Given the description of an element on the screen output the (x, y) to click on. 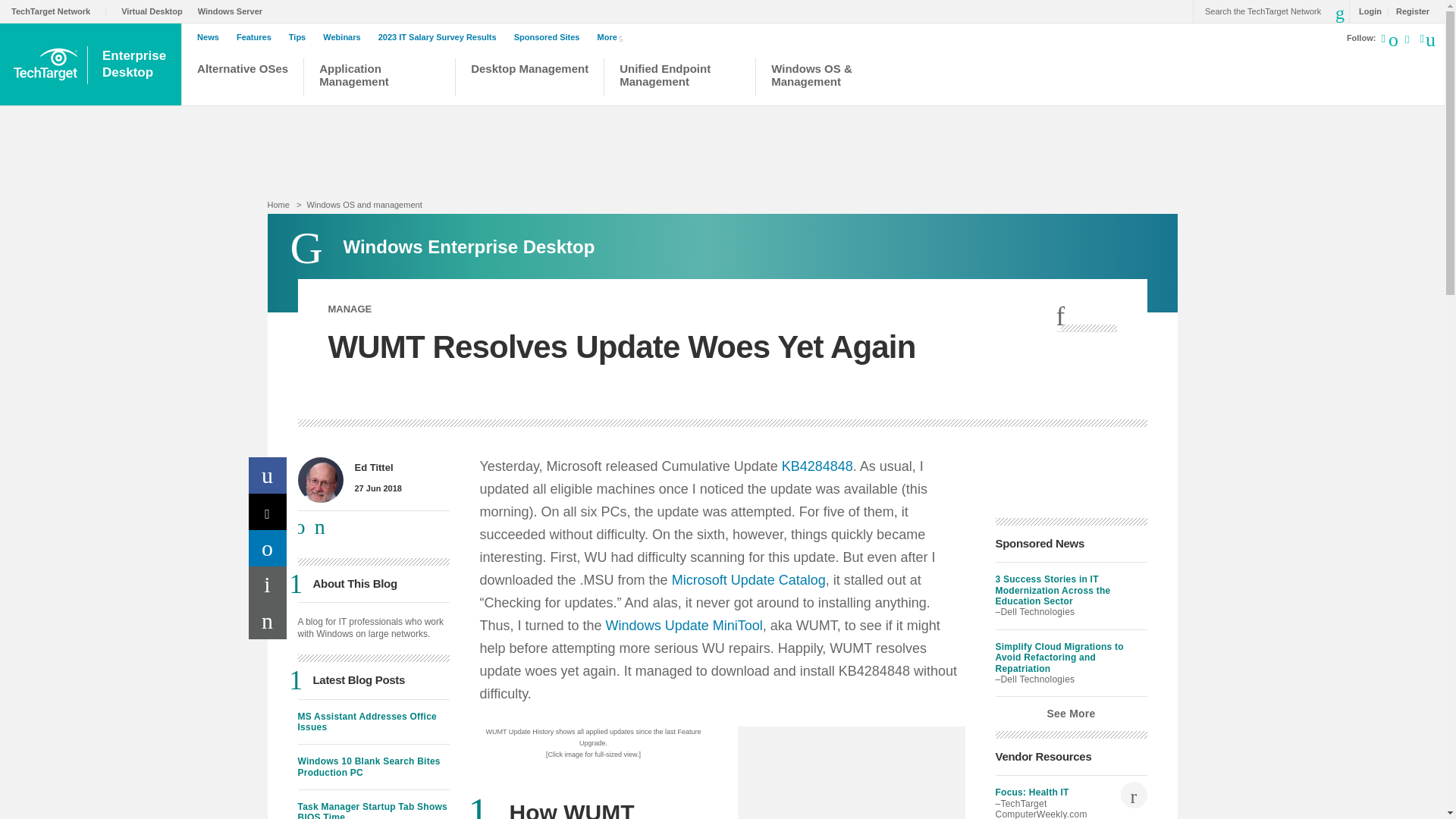
Email a Friend (267, 620)
Sponsored Sites (550, 36)
TechTarget Network (58, 10)
Webinars (345, 36)
Windows OS and management (363, 204)
Print This Page (267, 584)
More (612, 36)
Home (277, 204)
Login (135, 64)
